Given the description of an element on the screen output the (x, y) to click on. 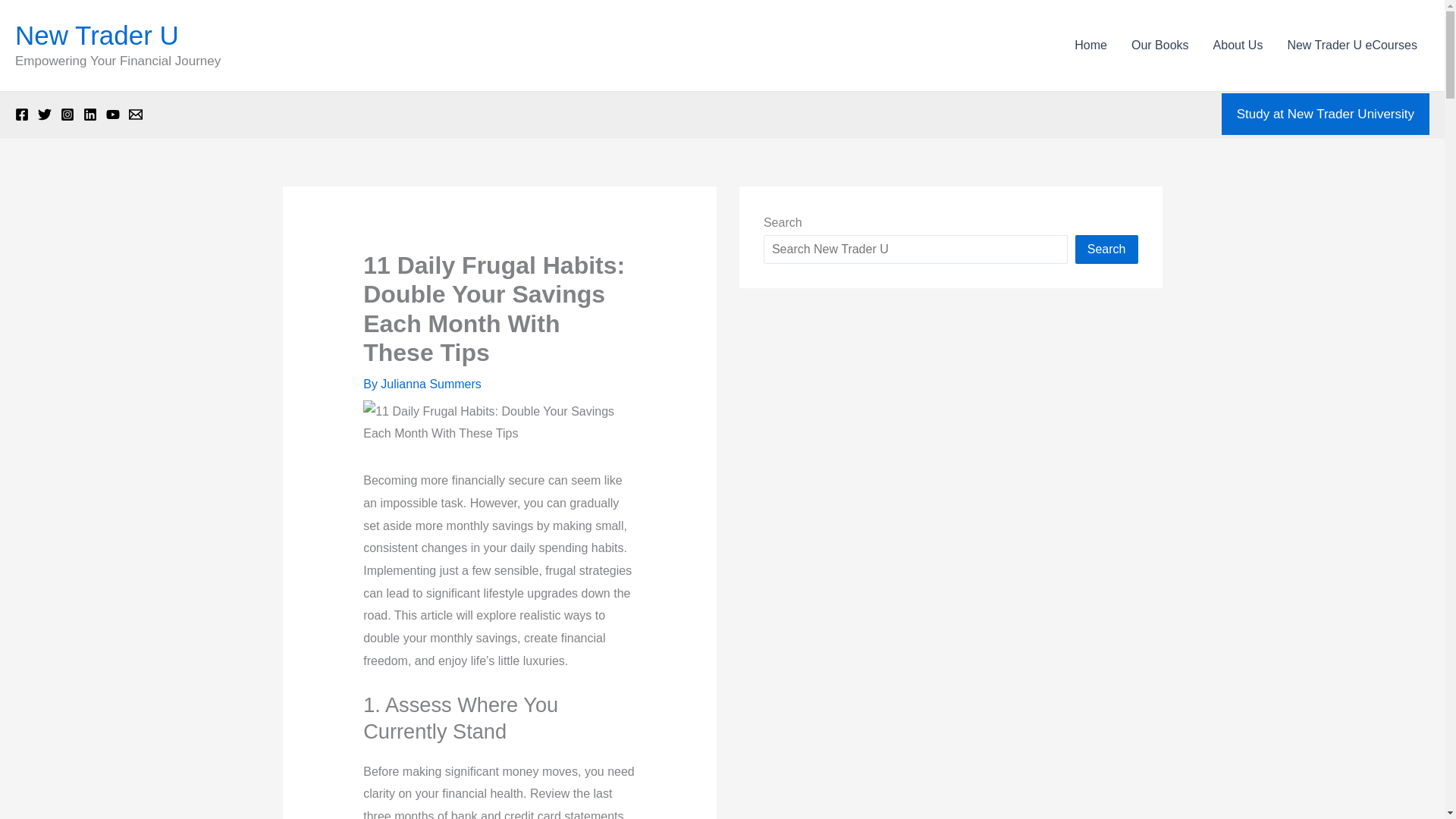
View all posts by Julianna Summers (430, 383)
Our Books (1160, 45)
Home (1090, 45)
Julianna Summers (430, 383)
About Us (1238, 45)
New Trader U (96, 34)
New Trader U eCourses (1352, 45)
Study at New Trader University (1325, 114)
